Given the description of an element on the screen output the (x, y) to click on. 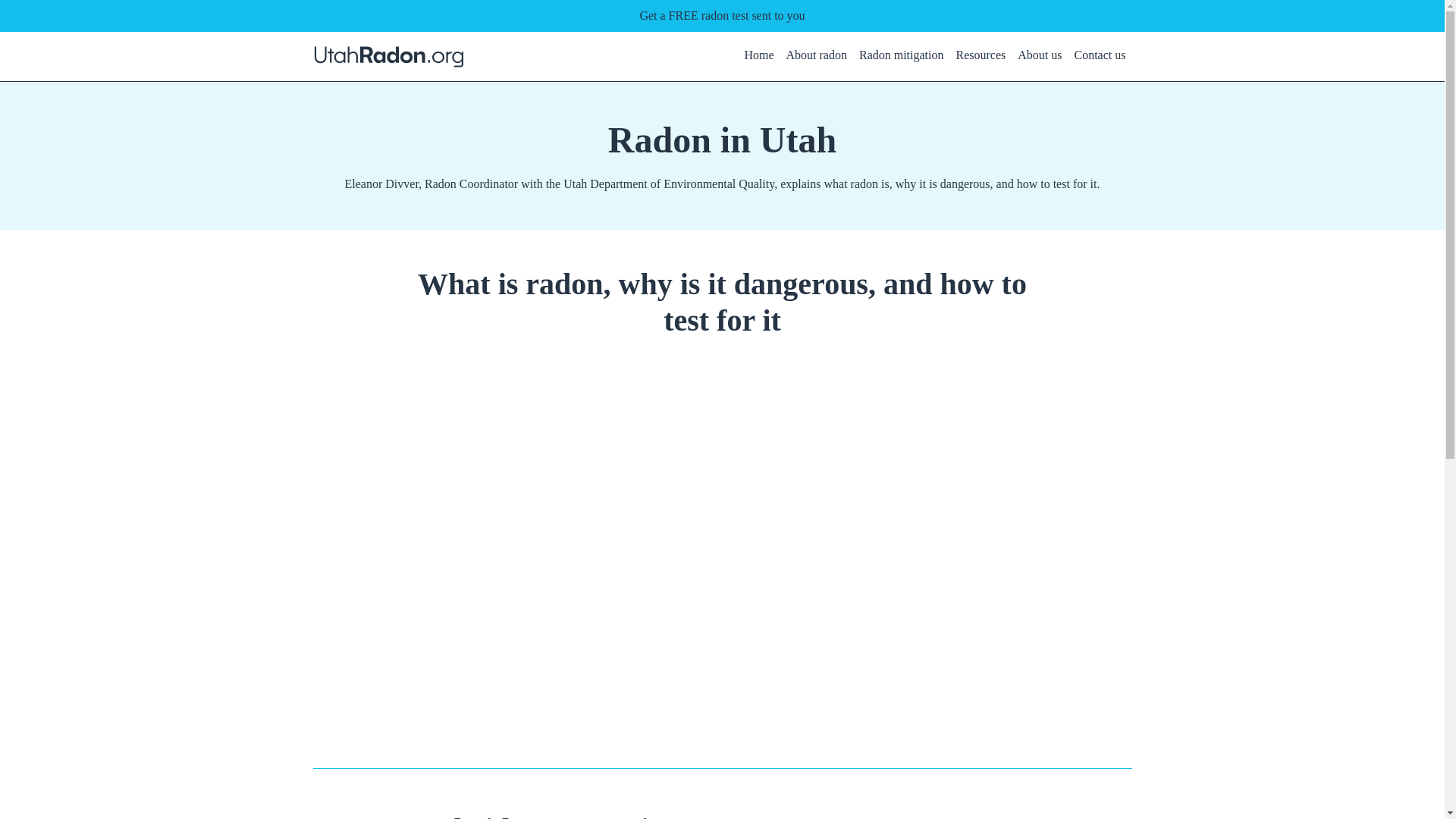
Home (758, 55)
Contact us (1099, 55)
Radon mitigation (901, 55)
About radon (816, 55)
Resources (980, 55)
About us (1039, 55)
Get a FREE radon test sent to you (722, 15)
